Given the description of an element on the screen output the (x, y) to click on. 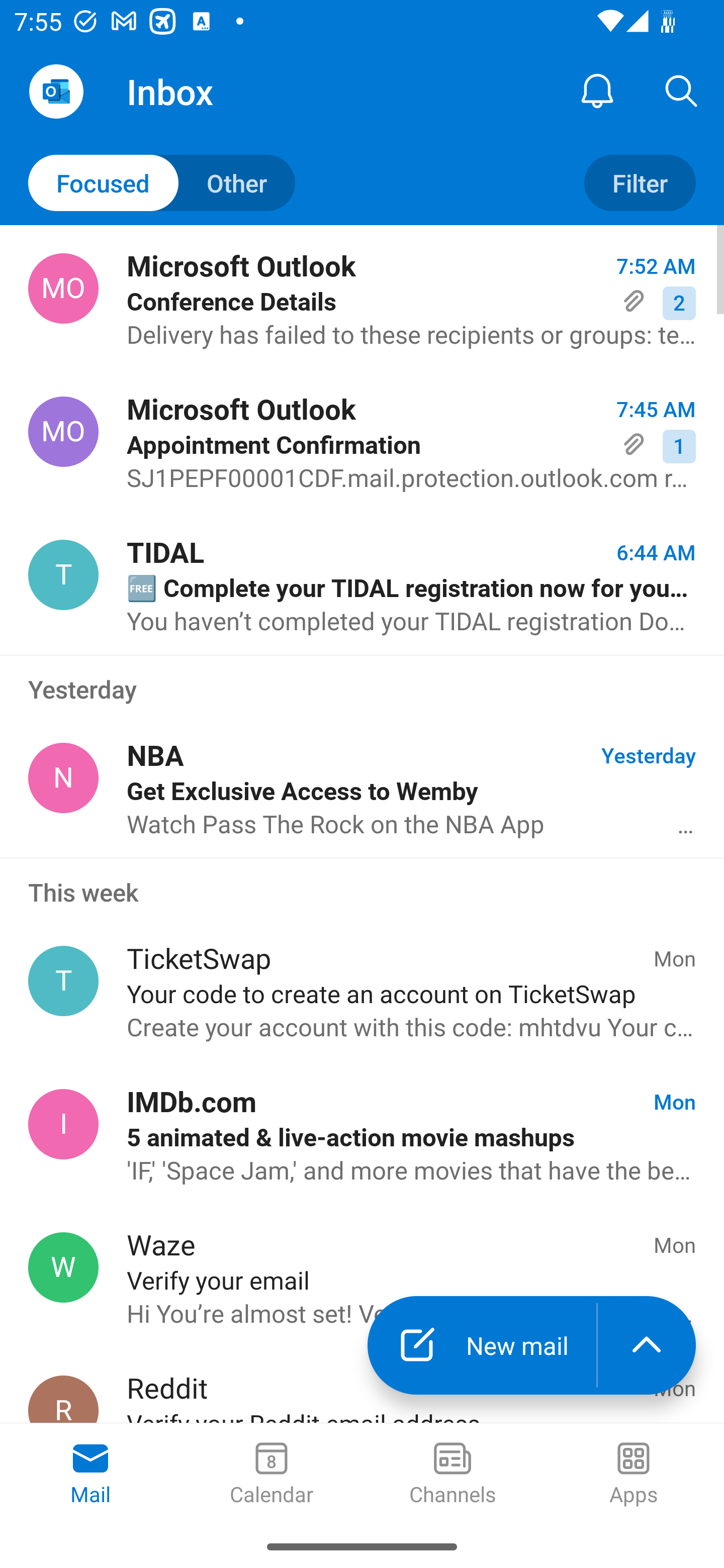
Notification Center (597, 90)
Search, ,  (681, 90)
Open Navigation Drawer (55, 91)
Toggle to other mails (161, 183)
Filter (639, 183)
TIDAL, hello@email.tidal.com (63, 574)
NBA, NBA@email.nba.com (63, 778)
TicketSwap, info@ticketswap.com (63, 980)
IMDb.com, do-not-reply@imdb.com (63, 1123)
Waze, noreply@waze.com (63, 1267)
New mail (481, 1344)
launch the extended action menu (646, 1344)
Calendar (271, 1474)
Channels (452, 1474)
Apps (633, 1474)
